Given the description of an element on the screen output the (x, y) to click on. 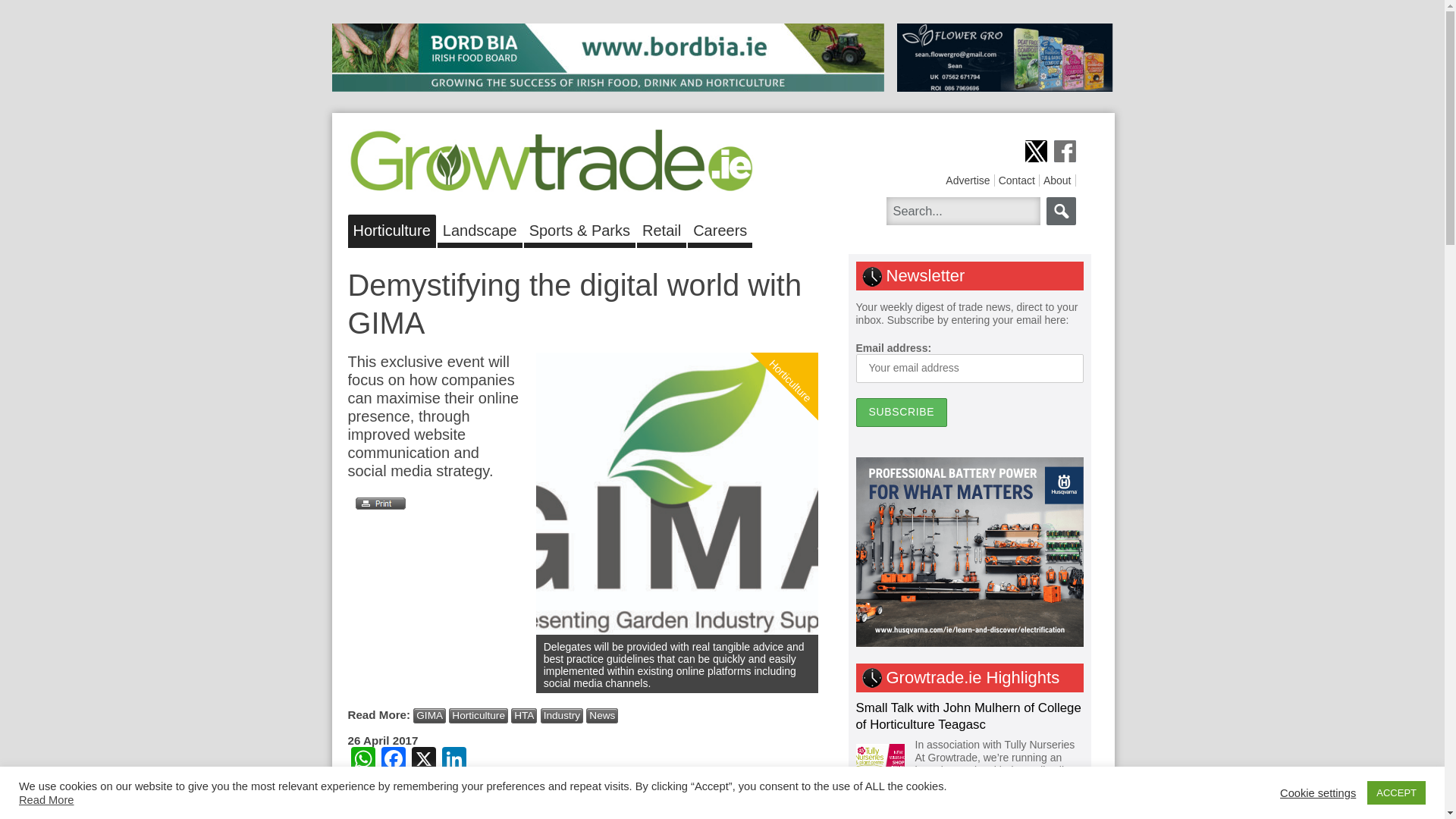
Advertise (967, 180)
Search... (962, 211)
News (601, 715)
LinkedIn (453, 760)
Industry (561, 715)
Horticulture (391, 228)
Horticulture (478, 715)
Subscribe (901, 412)
Landscape (480, 228)
